Given the description of an element on the screen output the (x, y) to click on. 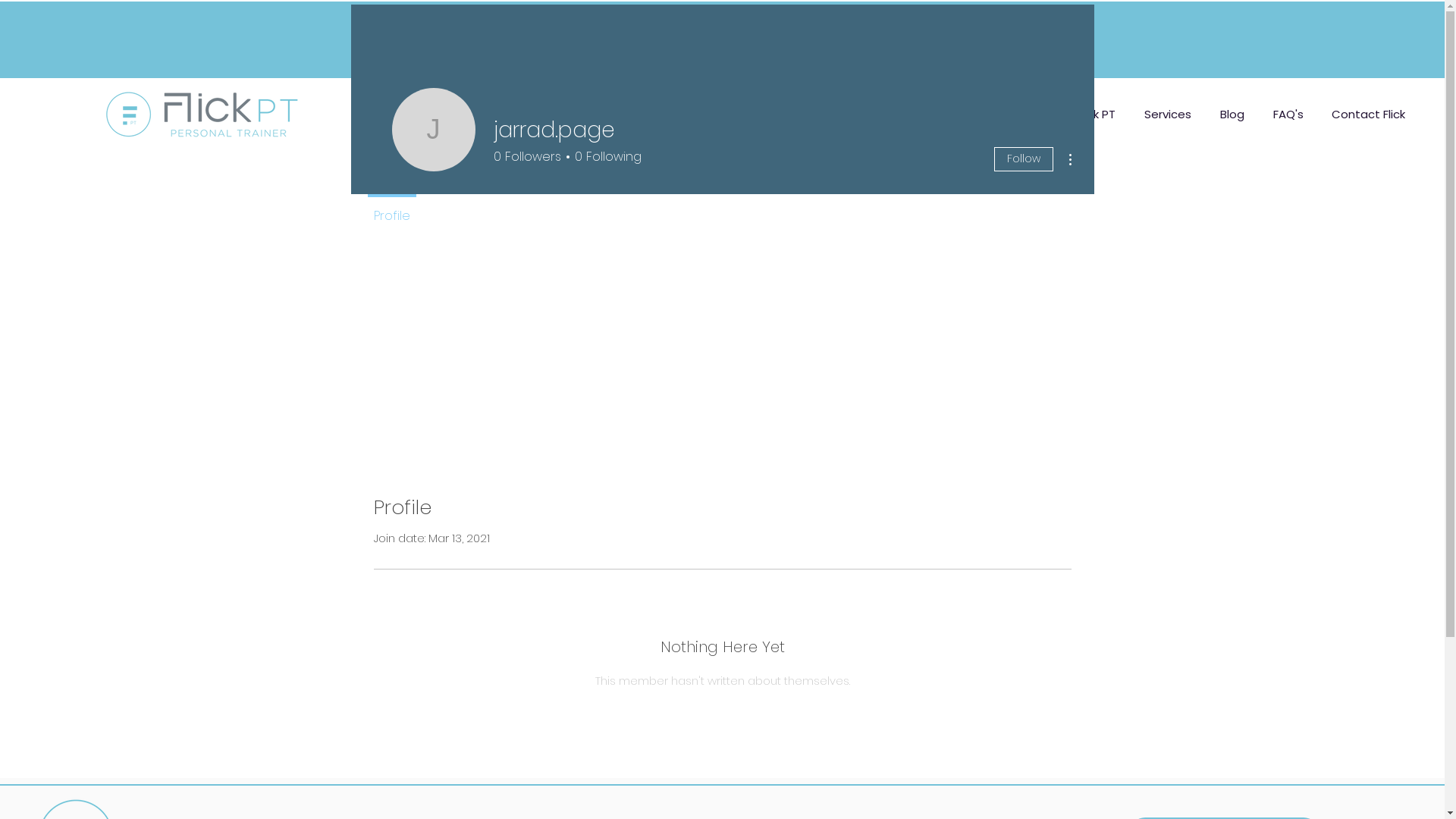
Contact Flick Element type: text (1367, 114)
Follow Element type: text (1022, 159)
Profile Element type: text (391, 209)
0
Following Element type: text (604, 156)
Flick PT Element type: hover (203, 114)
About Flick PT Element type: text (1076, 114)
0
Followers Element type: text (526, 156)
FAQ's Element type: text (1287, 114)
Blog Element type: text (1231, 114)
Home Element type: text (992, 114)
